Given the description of an element on the screen output the (x, y) to click on. 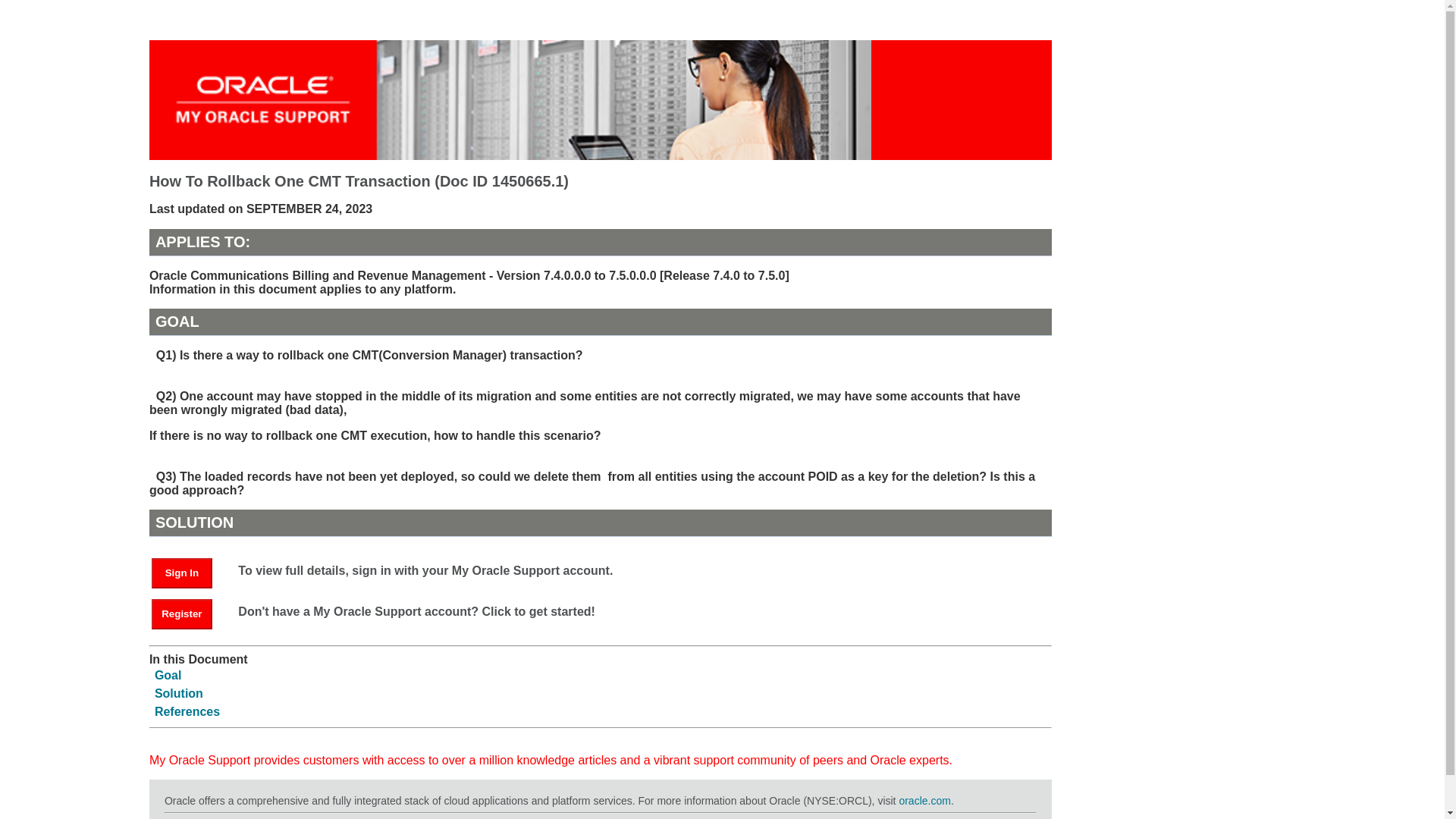
References (186, 711)
Register (181, 613)
Sign In (189, 571)
oracle.com (924, 800)
oracle.com (924, 800)
Sign In (181, 572)
Goal (168, 675)
Register (189, 612)
Solution (178, 693)
